Given the description of an element on the screen output the (x, y) to click on. 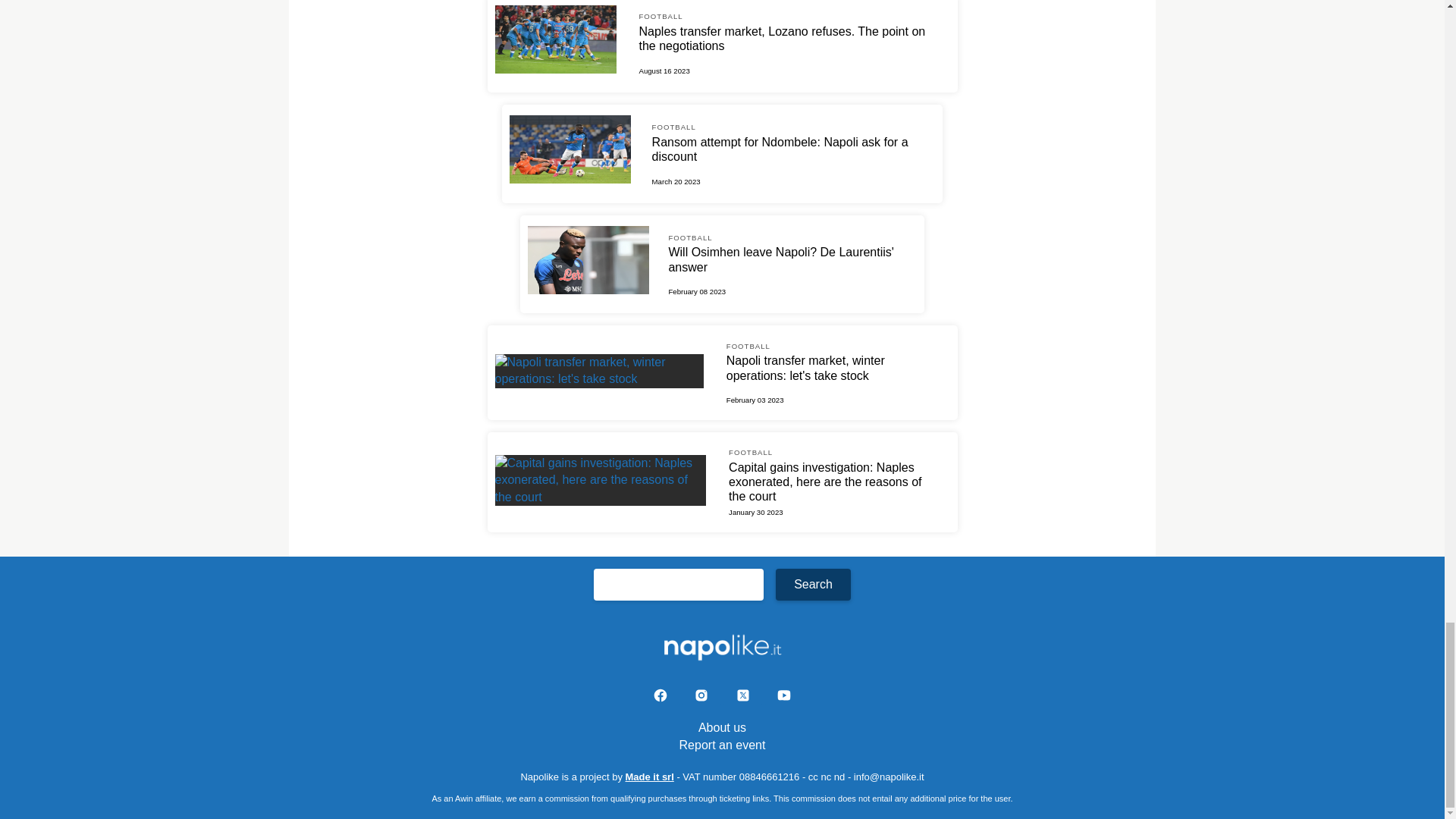
Search (813, 584)
